Given the description of an element on the screen output the (x, y) to click on. 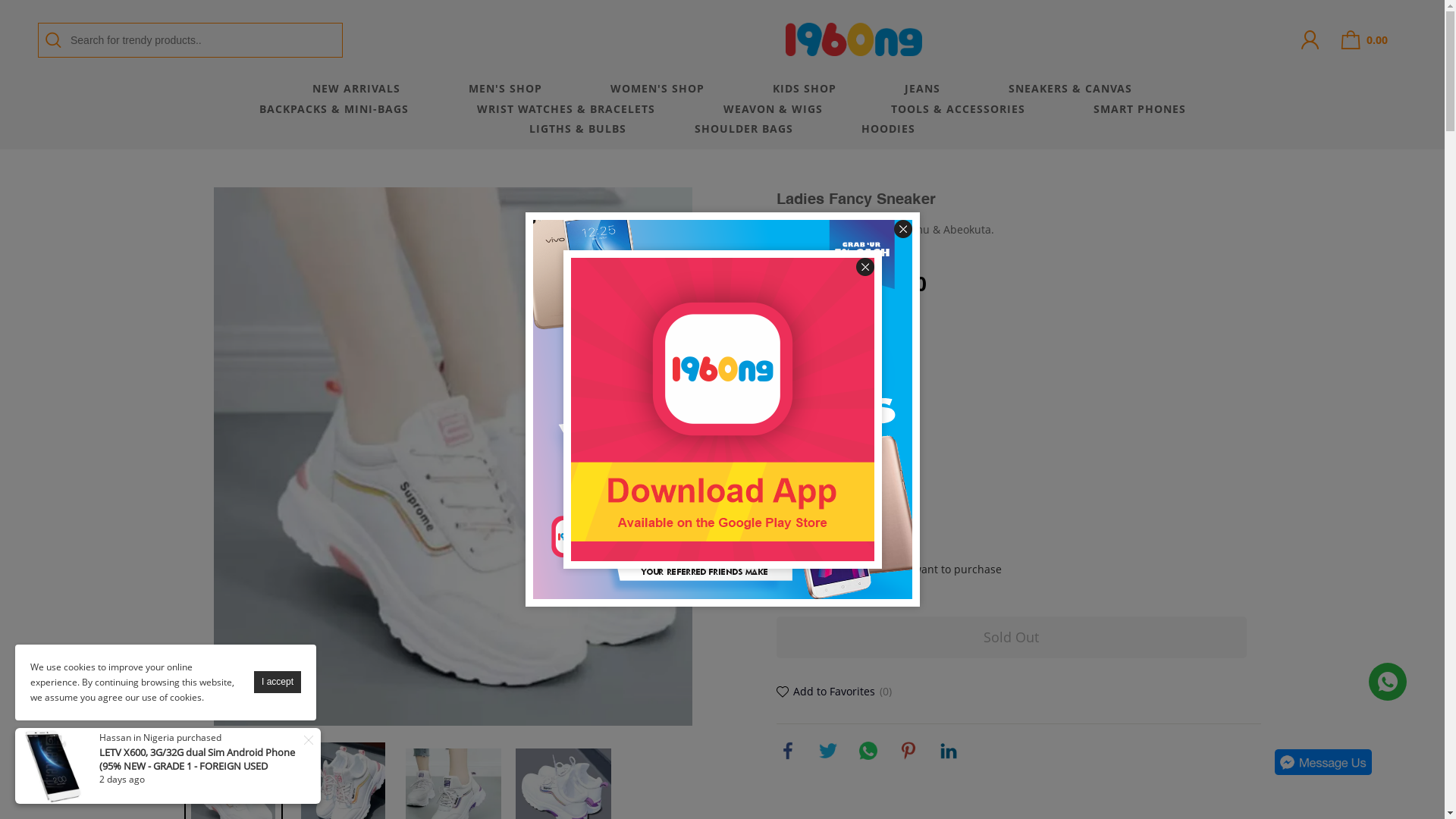
twitter Element type: text (826, 750)
WEAVON & WIGS Element type: text (772, 109)
whatsapp Element type: text (867, 750)
LIGTHS & BULBS Element type: text (577, 128)
0.00 Element type: text (1364, 37)
BACKPACKS & MINI-BAGS Element type: text (333, 109)
JEANS Element type: text (922, 88)
pinterest Element type: text (907, 750)
KIDS SHOP Element type: text (804, 88)
SNEAKERS & CANVAS Element type: text (1070, 88)
MEN'S SHOP Element type: text (505, 88)
linkedin Element type: text (948, 750)
SMART PHONES Element type: text (1139, 109)
WRIST WATCHES & BRACELETS Element type: text (565, 109)
X Element type: text (308, 739)
1960NG  01 Element type: hover (1387, 681)
facebook Element type: text (787, 750)
TOOLS & ACCESSORIES Element type: text (957, 109)
WOMEN'S SHOP Element type: text (657, 88)
HOODIES Element type: text (888, 128)
Add to Favorites
(0) Element type: text (833, 691)
SHOULDER BAGS Element type: text (743, 128)
NEW ARRIVALS Element type: text (356, 88)
